Given the description of an element on the screen output the (x, y) to click on. 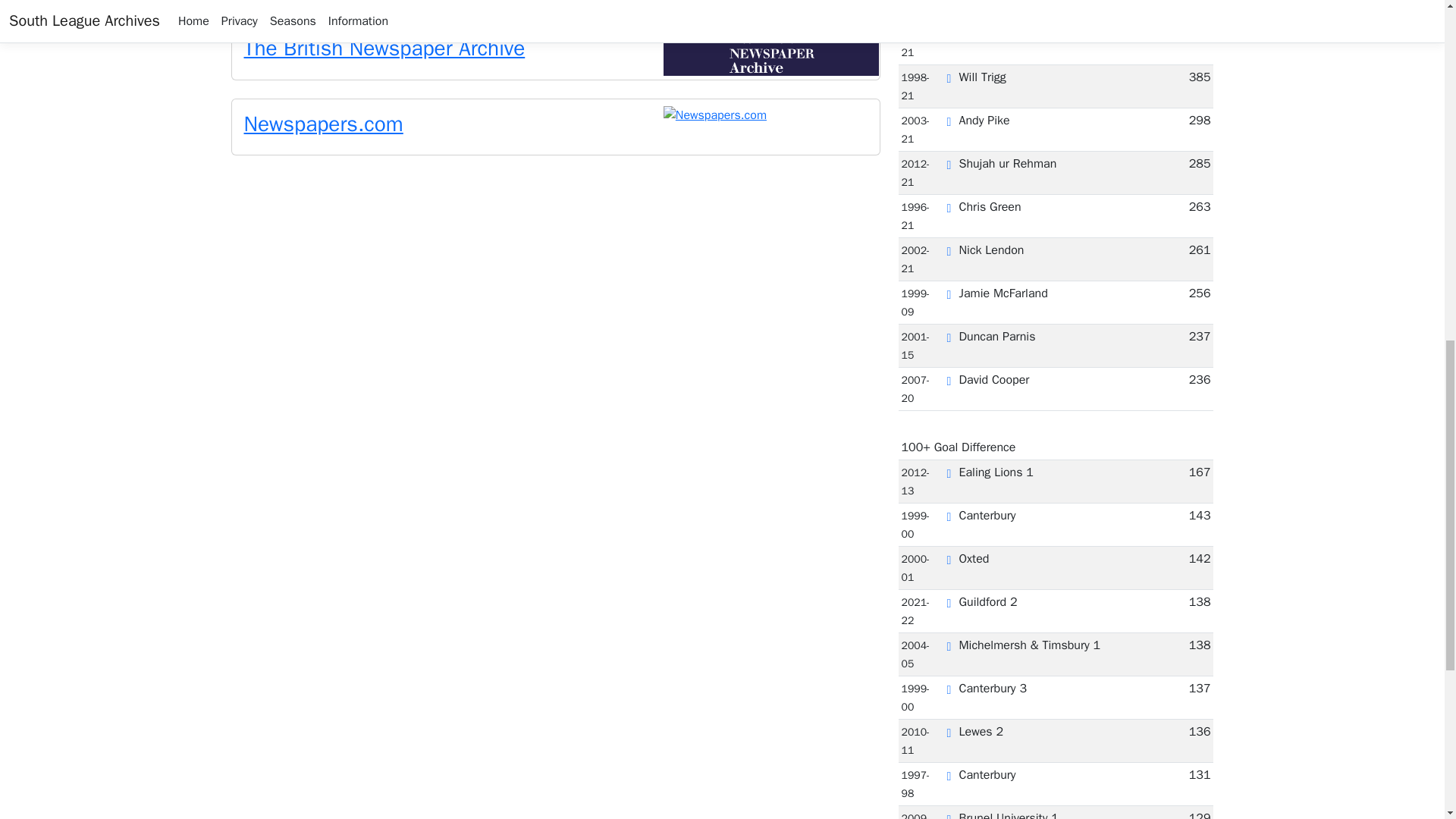
The British Newspaper Archive (384, 48)
Newspapers.com (323, 123)
